Given the description of an element on the screen output the (x, y) to click on. 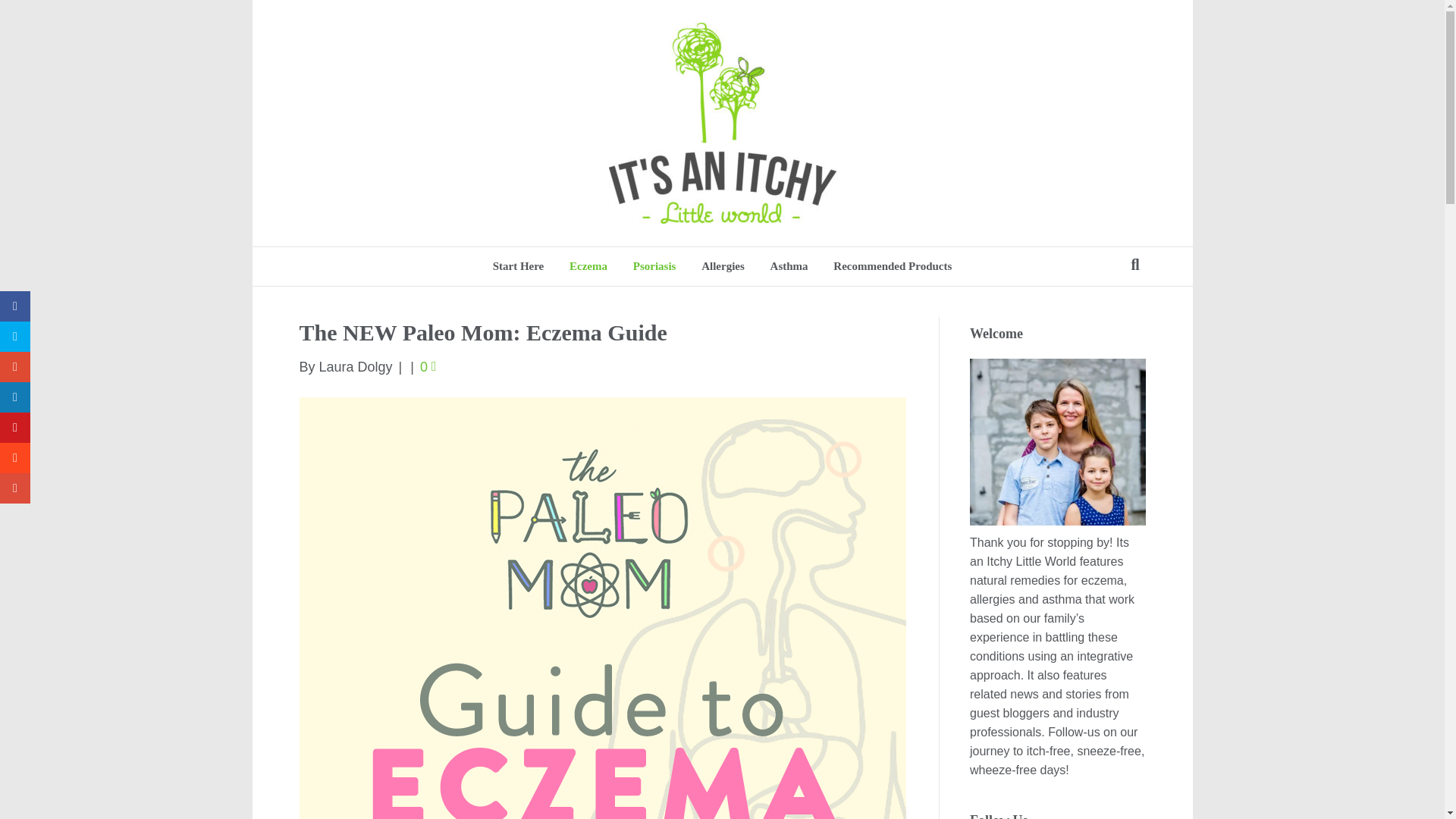
Allergies (722, 266)
Asthma (788, 266)
Laura Dolgy (355, 366)
Psoriasis (654, 266)
Start Here (518, 266)
0 (428, 366)
Recommended Products (892, 266)
Eczema (587, 266)
